Given the description of an element on the screen output the (x, y) to click on. 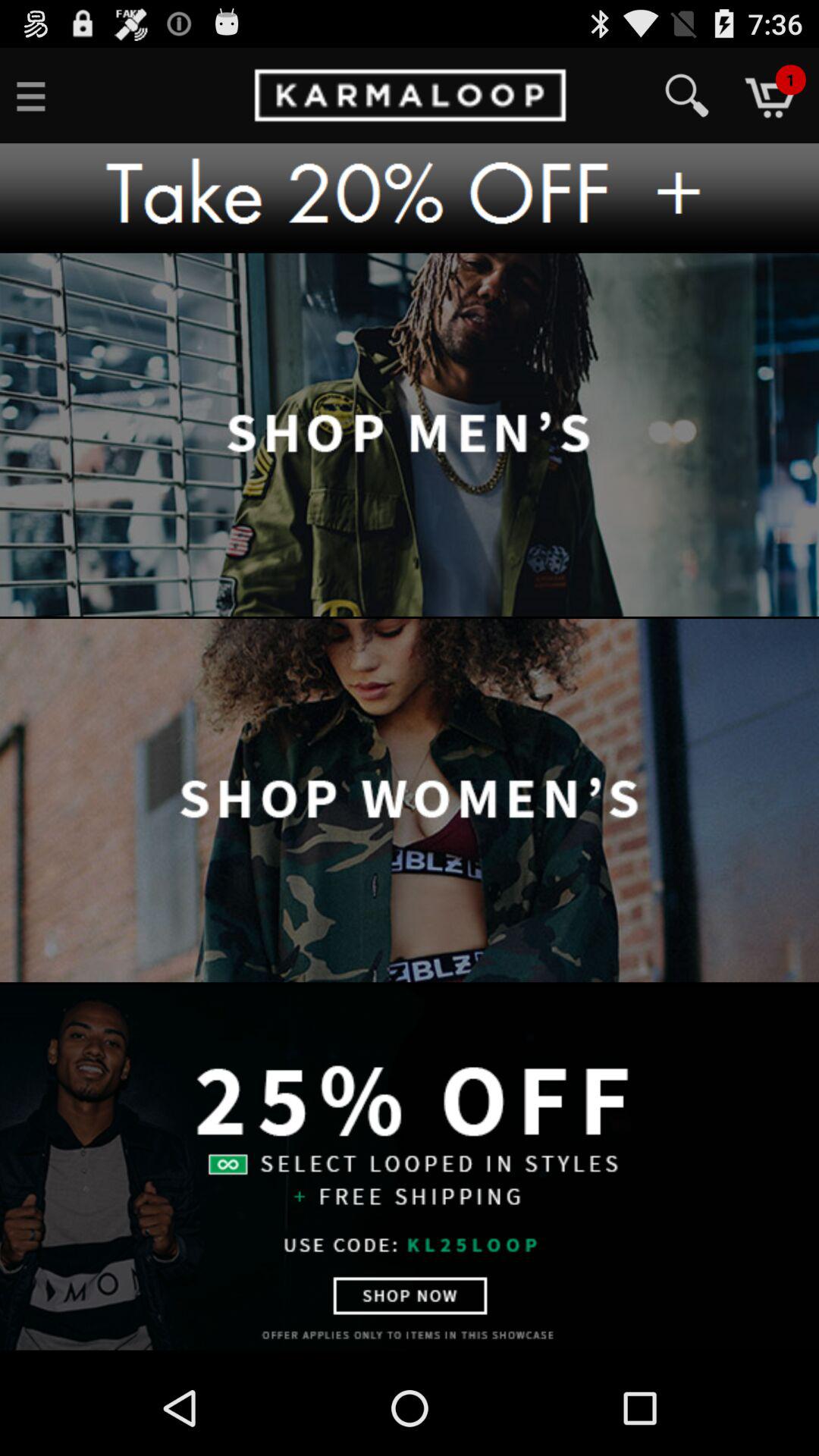
select shop men 's (409, 435)
